Given the description of an element on the screen output the (x, y) to click on. 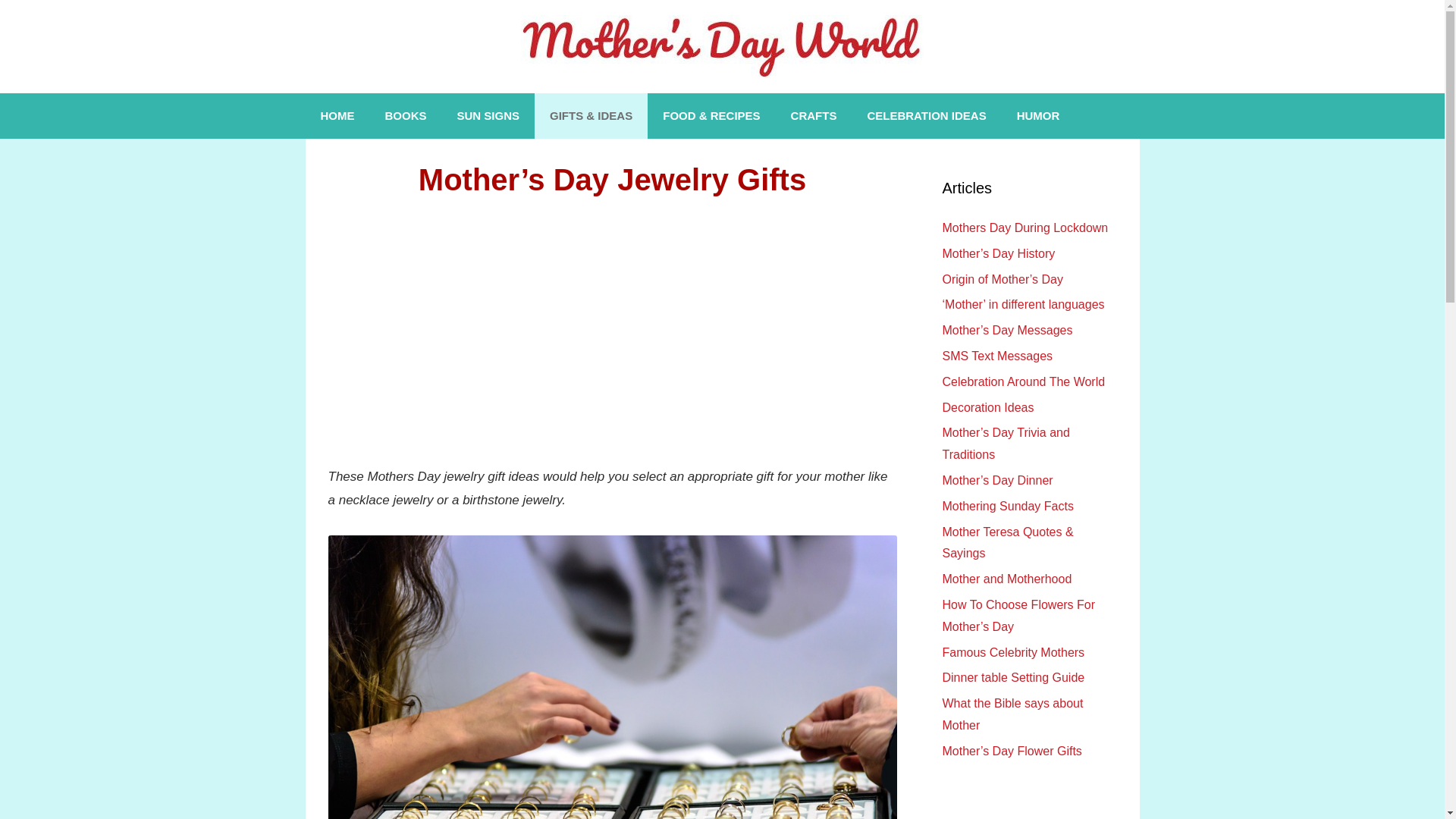
SMS Text Messages (997, 355)
CRAFTS (813, 115)
Famous Celebrity Mothers (1013, 652)
What the Bible says about Mother (1012, 714)
HUMOR (1038, 115)
Celebration Around The World (1023, 381)
Decoration Ideas (987, 407)
CELEBRATION IDEAS (926, 115)
HOME (336, 115)
Mother's Day World (722, 46)
BOOKS (405, 115)
Advertisement (611, 327)
Mothers Day During Lockdown (1025, 227)
Mother and Motherhood (1006, 578)
Mothering Sunday Facts (1007, 505)
